Given the description of an element on the screen output the (x, y) to click on. 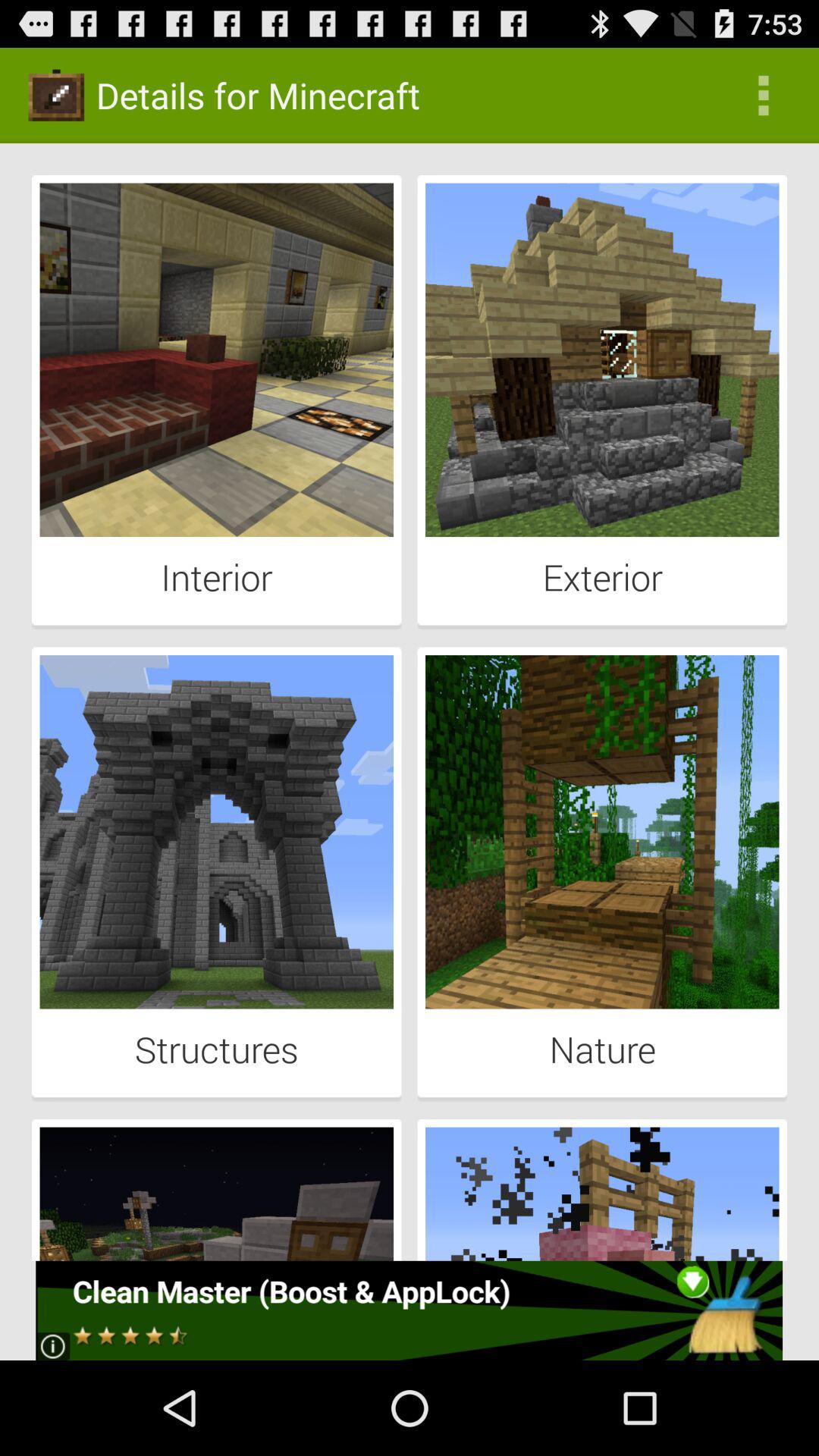
click the advertisement (408, 1310)
